Given the description of an element on the screen output the (x, y) to click on. 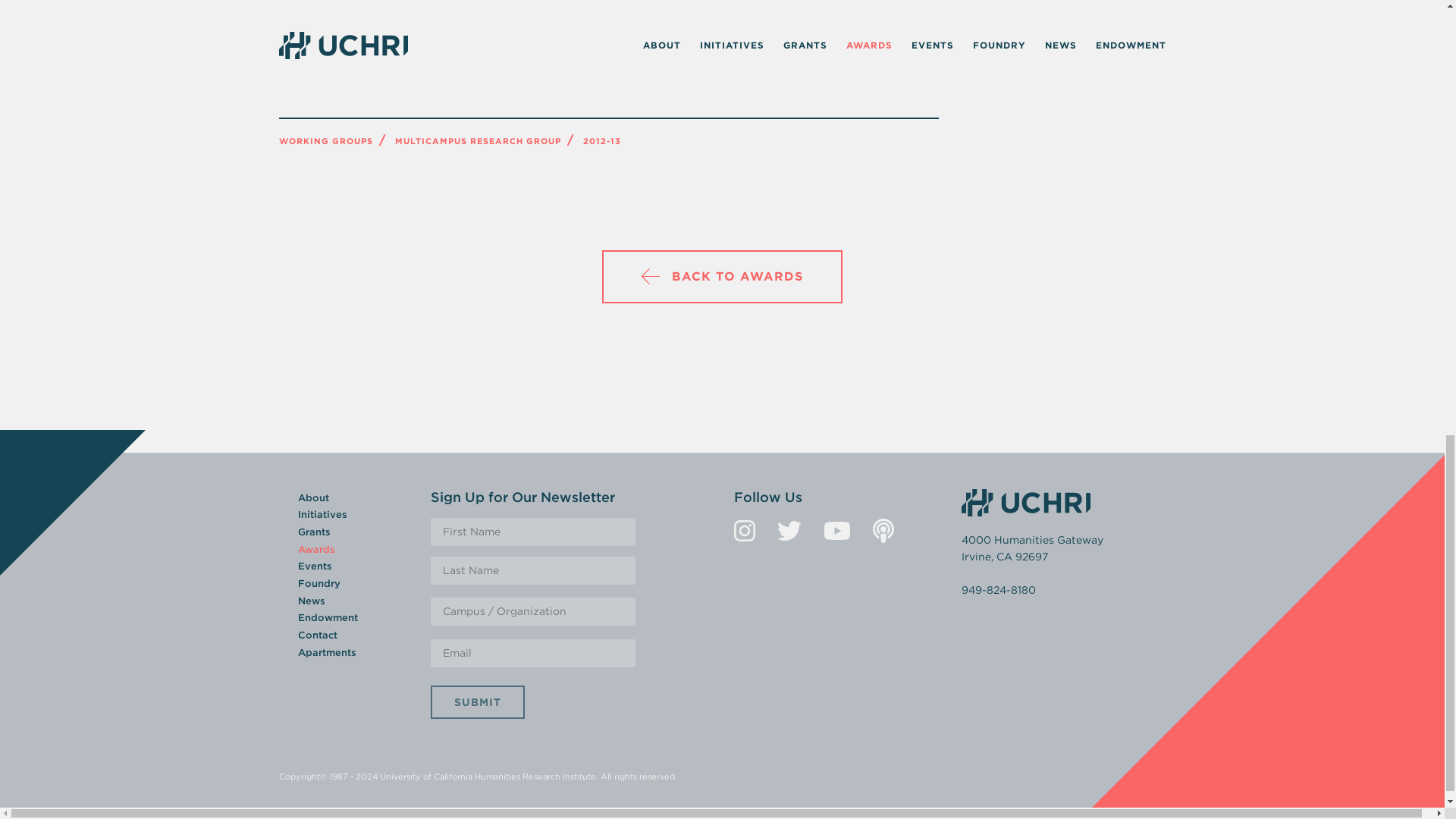
WORKING GROUPS (325, 140)
MULTICAMPUS RESEARCH GROUP (477, 140)
2012-13 (601, 140)
Events (314, 565)
Apartments (326, 652)
Contact (316, 634)
Foundry (318, 583)
Grants (313, 531)
BACK TO AWARDS (722, 276)
News (310, 600)
